Given the description of an element on the screen output the (x, y) to click on. 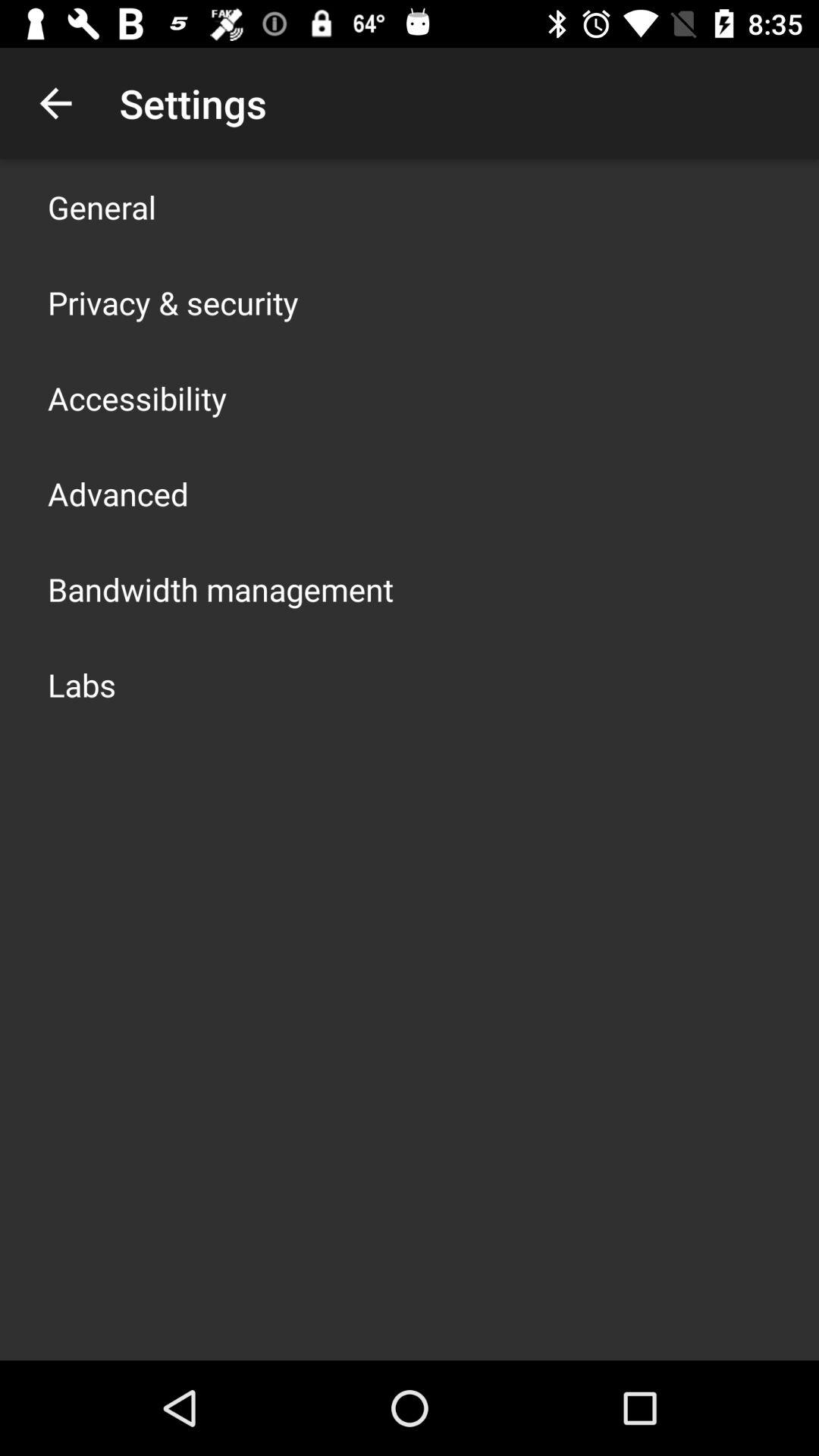
press the labs app (81, 684)
